Given the description of an element on the screen output the (x, y) to click on. 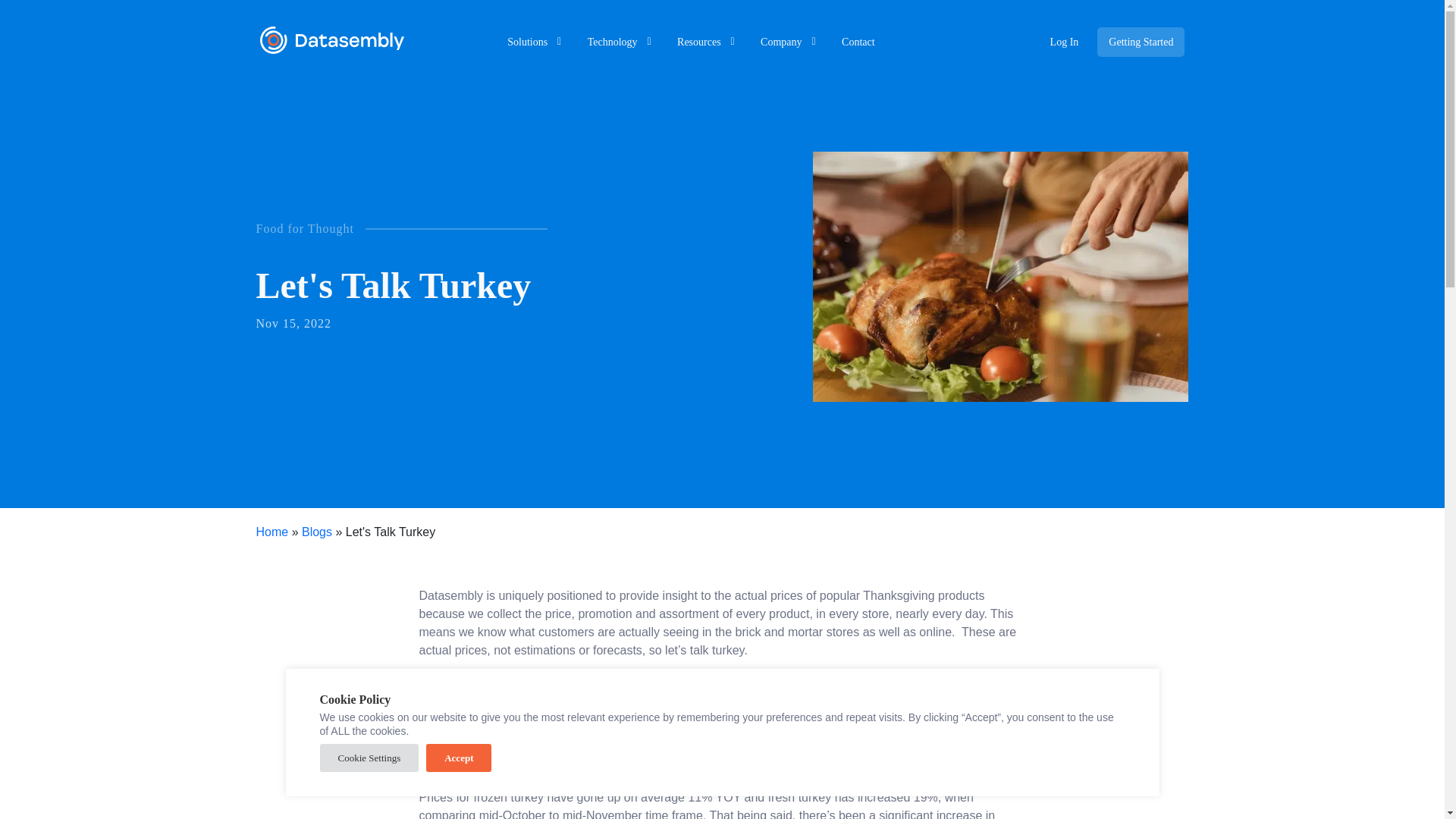
Company (785, 39)
Blogs (316, 530)
Solutions (531, 39)
Getting Started (1141, 41)
Log In (1064, 41)
Technology (616, 39)
Resources (703, 39)
Home (272, 530)
Contact (862, 39)
